Given the description of an element on the screen output the (x, y) to click on. 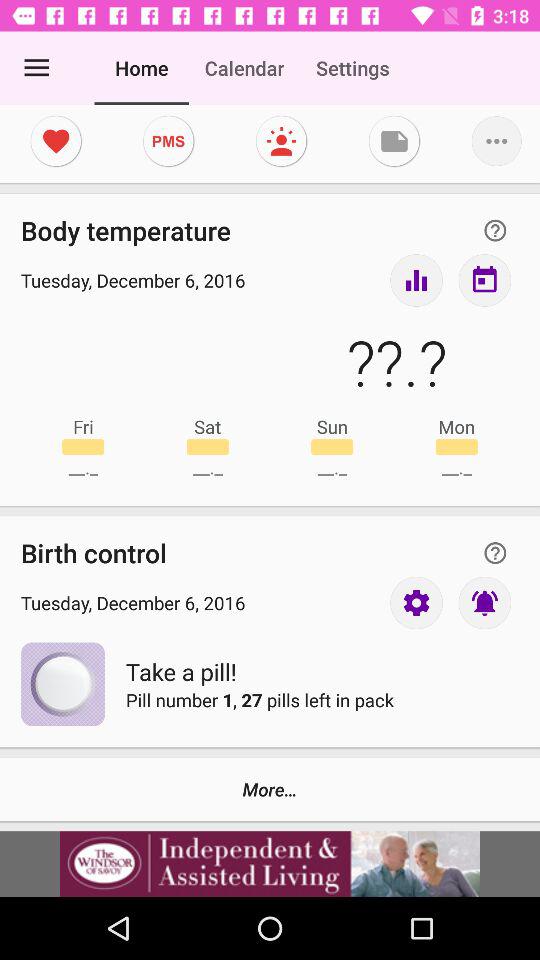
turn on notigication (484, 602)
